Given the description of an element on the screen output the (x, y) to click on. 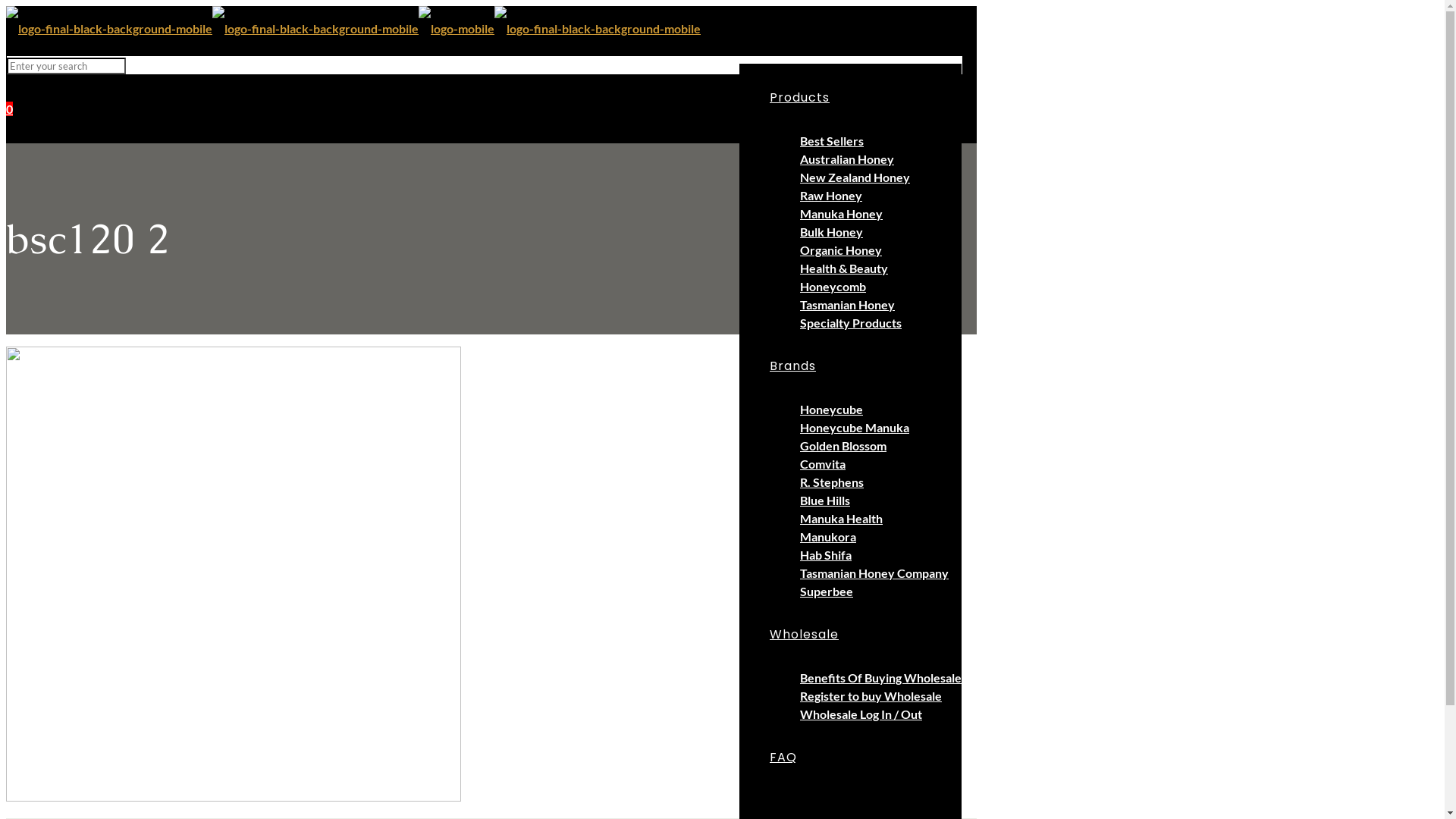
Benefits Of Buying Wholesale Element type: text (880, 677)
Blue Hills Element type: text (825, 499)
Health & Beauty Element type: text (844, 267)
Wholesale Element type: text (803, 634)
Manuka Health Element type: text (841, 518)
Honeycube Manuka Element type: text (854, 427)
Tasmanian Honey Element type: text (847, 304)
Raw Honey Element type: text (831, 195)
Wholesale Log In / Out Element type: text (861, 713)
Manukora Element type: text (828, 536)
Bulk Honey Element type: text (831, 231)
Honey Cube Element type: hover (353, 28)
Tasmanian Honey Company Element type: text (874, 572)
R. Stephens Element type: text (831, 481)
Brands Element type: text (792, 365)
Products Element type: text (799, 97)
Organic Honey Element type: text (840, 249)
Honeycube Element type: text (831, 408)
Hab Shifa Element type: text (825, 554)
Comvita Element type: text (822, 463)
Best Sellers Element type: text (831, 140)
Register to buy Wholesale Element type: text (870, 695)
New Zealand Honey Element type: text (855, 176)
Honeycomb Element type: text (833, 286)
0 Element type: text (9, 108)
FAQ Element type: text (783, 757)
Superbee Element type: text (826, 590)
Manuka Honey Element type: text (841, 213)
Specialty Products Element type: text (850, 322)
Australian Honey Element type: text (847, 158)
Golden Blossom Element type: text (843, 445)
